Given the description of an element on the screen output the (x, y) to click on. 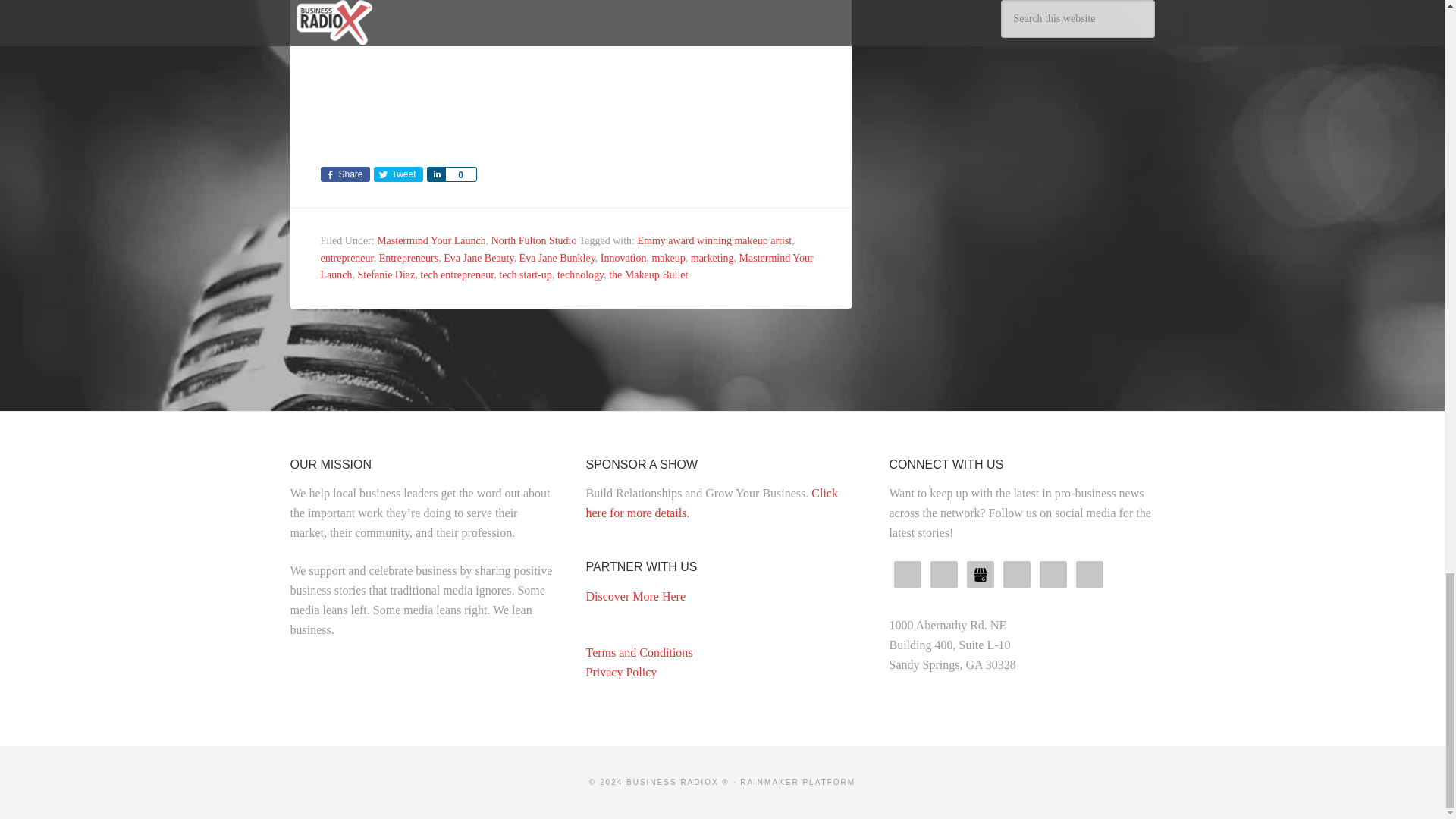
Google my business (979, 574)
